Given the description of an element on the screen output the (x, y) to click on. 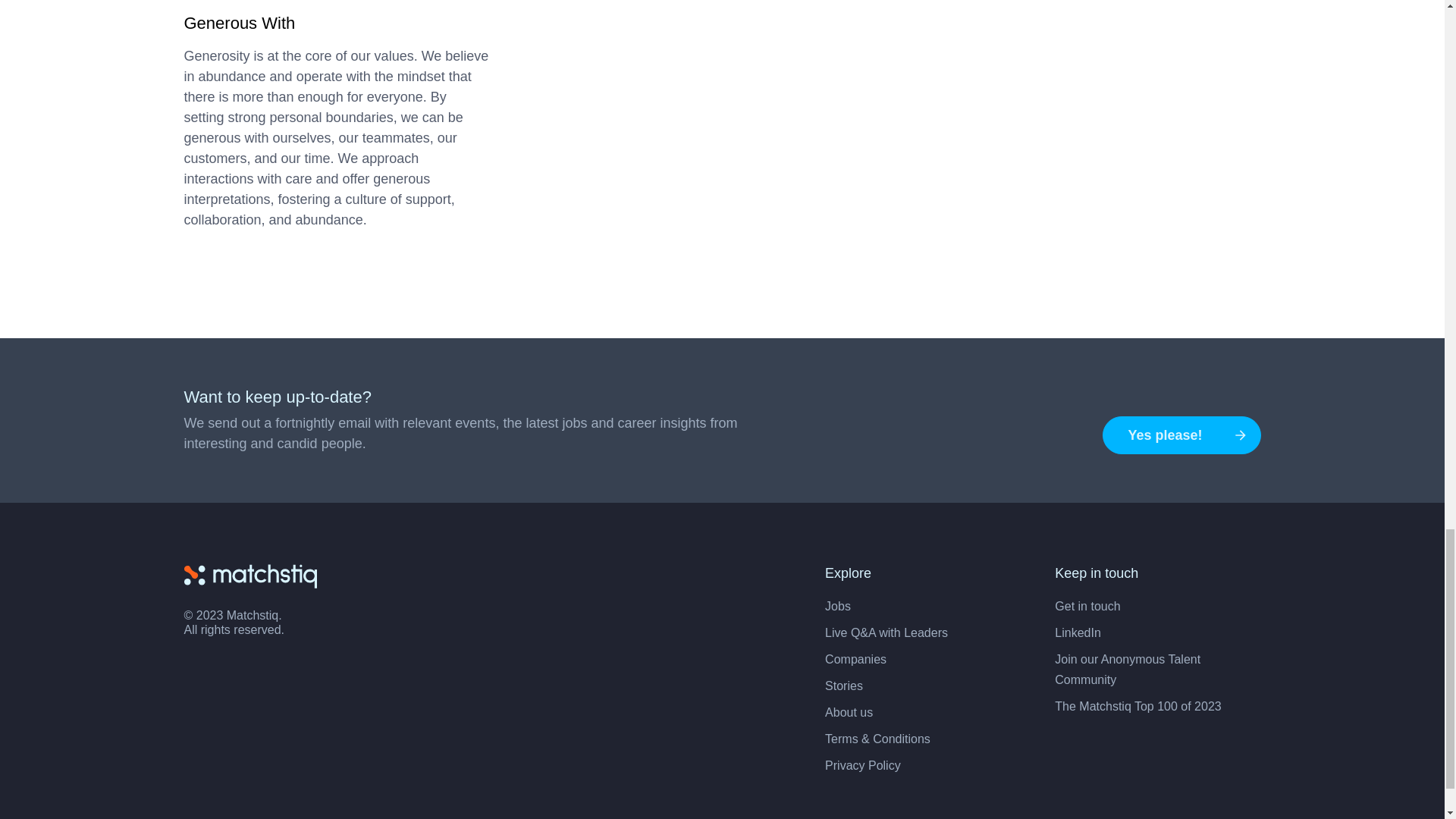
Join our Anonymous Talent Community (1126, 669)
LinkedIn (1077, 632)
Matchstiq (249, 575)
Stories (844, 685)
Privacy Policy (863, 765)
Companies (855, 658)
The Matchstiq Top 100 of 2023 (1137, 706)
Yes please! (1181, 435)
About us (848, 712)
Jobs (837, 605)
